Given the description of an element on the screen output the (x, y) to click on. 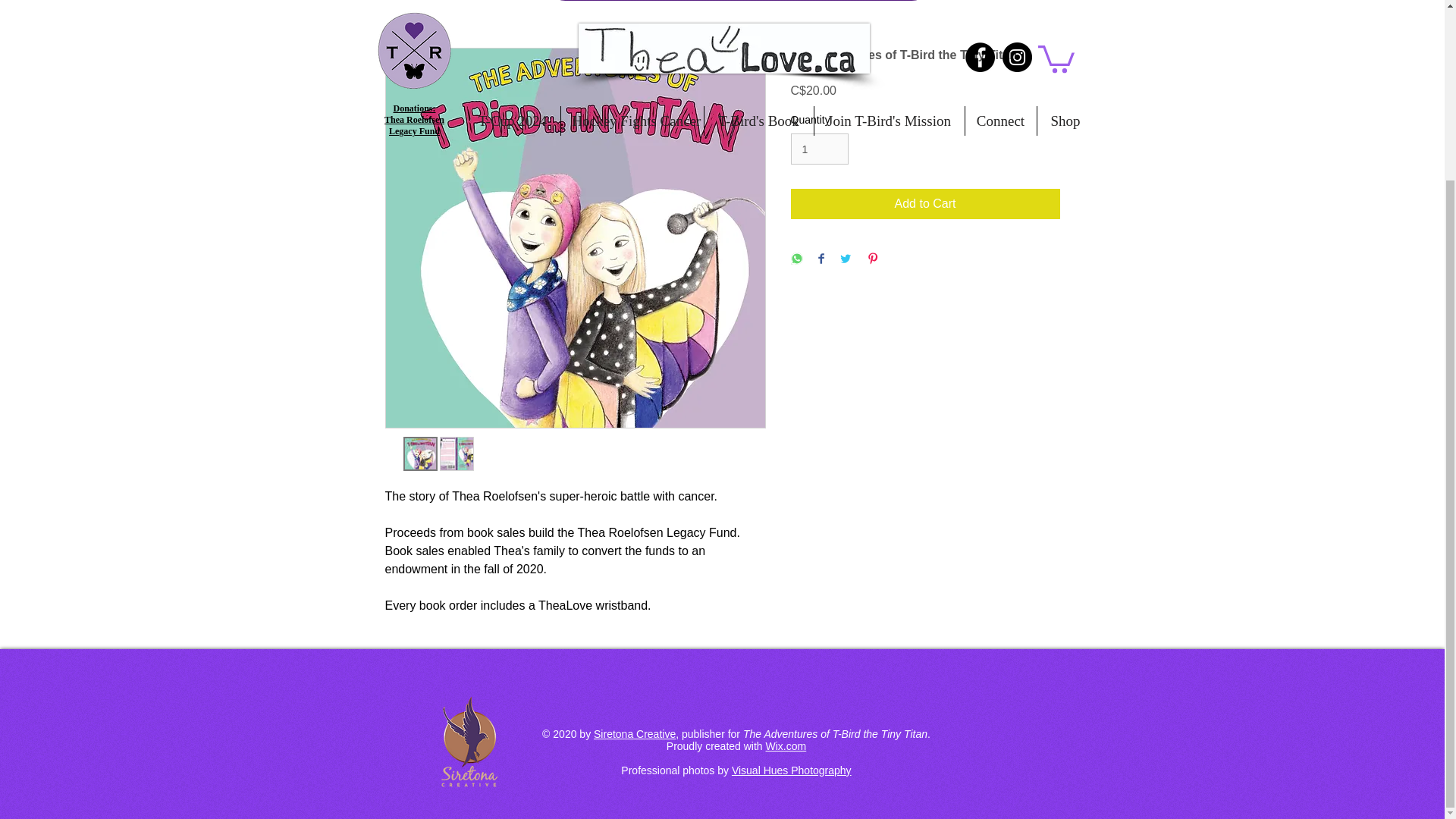
Wix.com (785, 746)
Siretona Creative (634, 734)
Visual Hues Photography (791, 770)
1 (818, 148)
Add to Cart (924, 204)
